Given the description of an element on the screen output the (x, y) to click on. 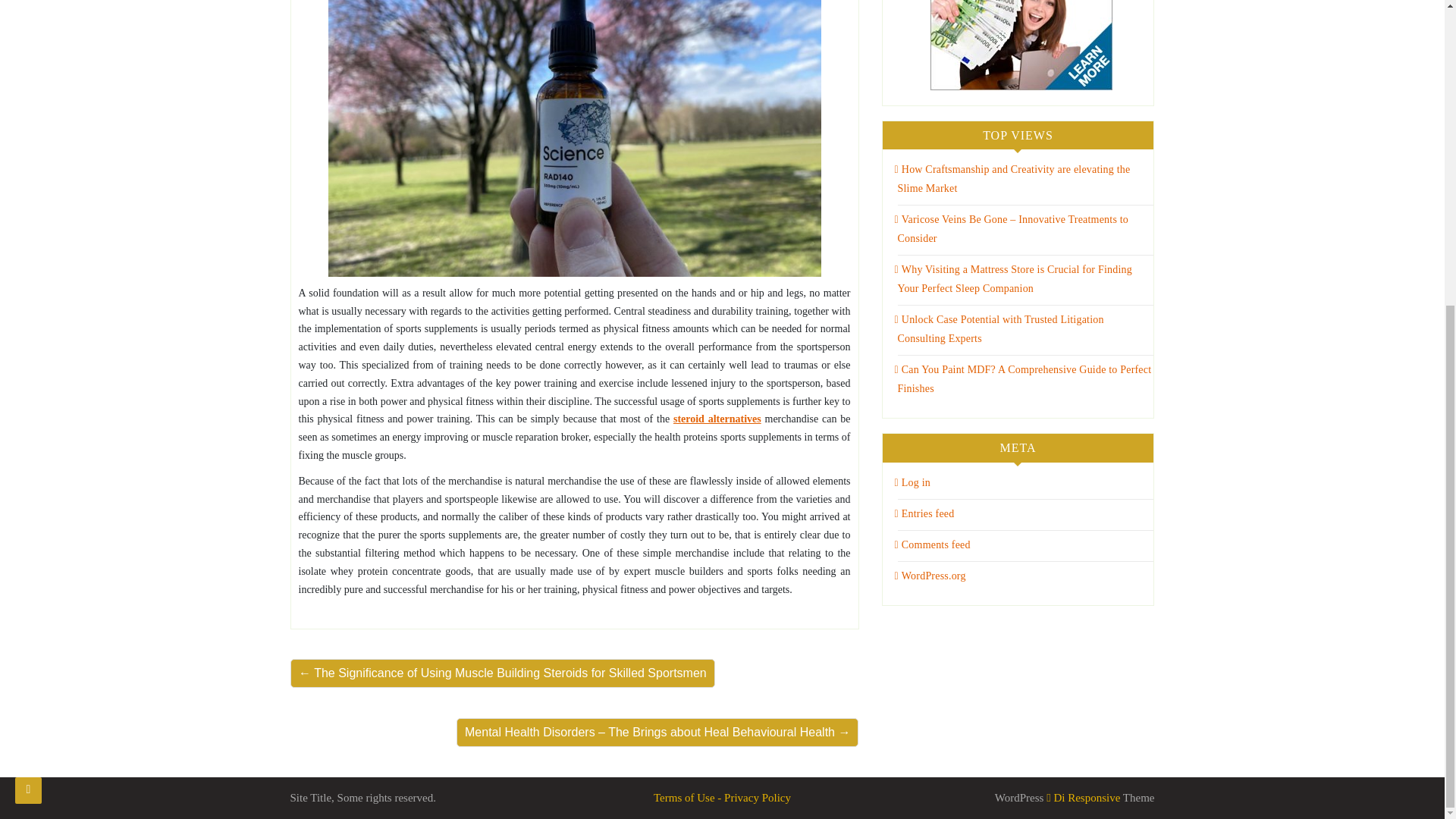
Di Responsive (1082, 797)
steroid alternatives (716, 419)
Comments feed (933, 544)
WordPress.org (930, 575)
Entries feed (925, 513)
Log in (912, 482)
Terms of Use - Privacy Policy (721, 797)
